Given the description of an element on the screen output the (x, y) to click on. 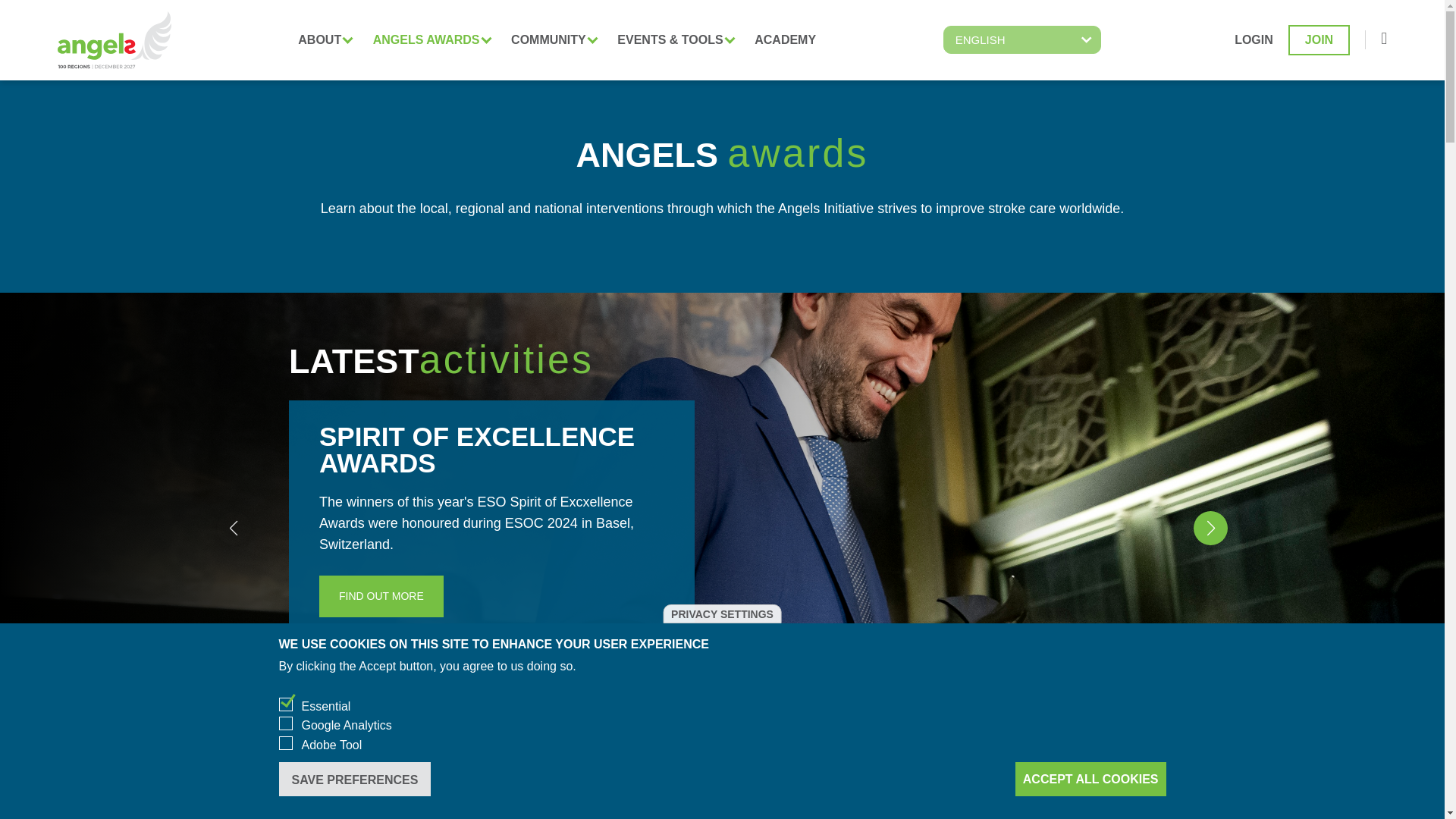
LOGIN (1254, 39)
ACADEMY (785, 39)
ANGELS AWARDS (429, 39)
JOIN (1318, 40)
ABOUT (322, 39)
FIND OUT MORE (381, 596)
